Given the description of an element on the screen output the (x, y) to click on. 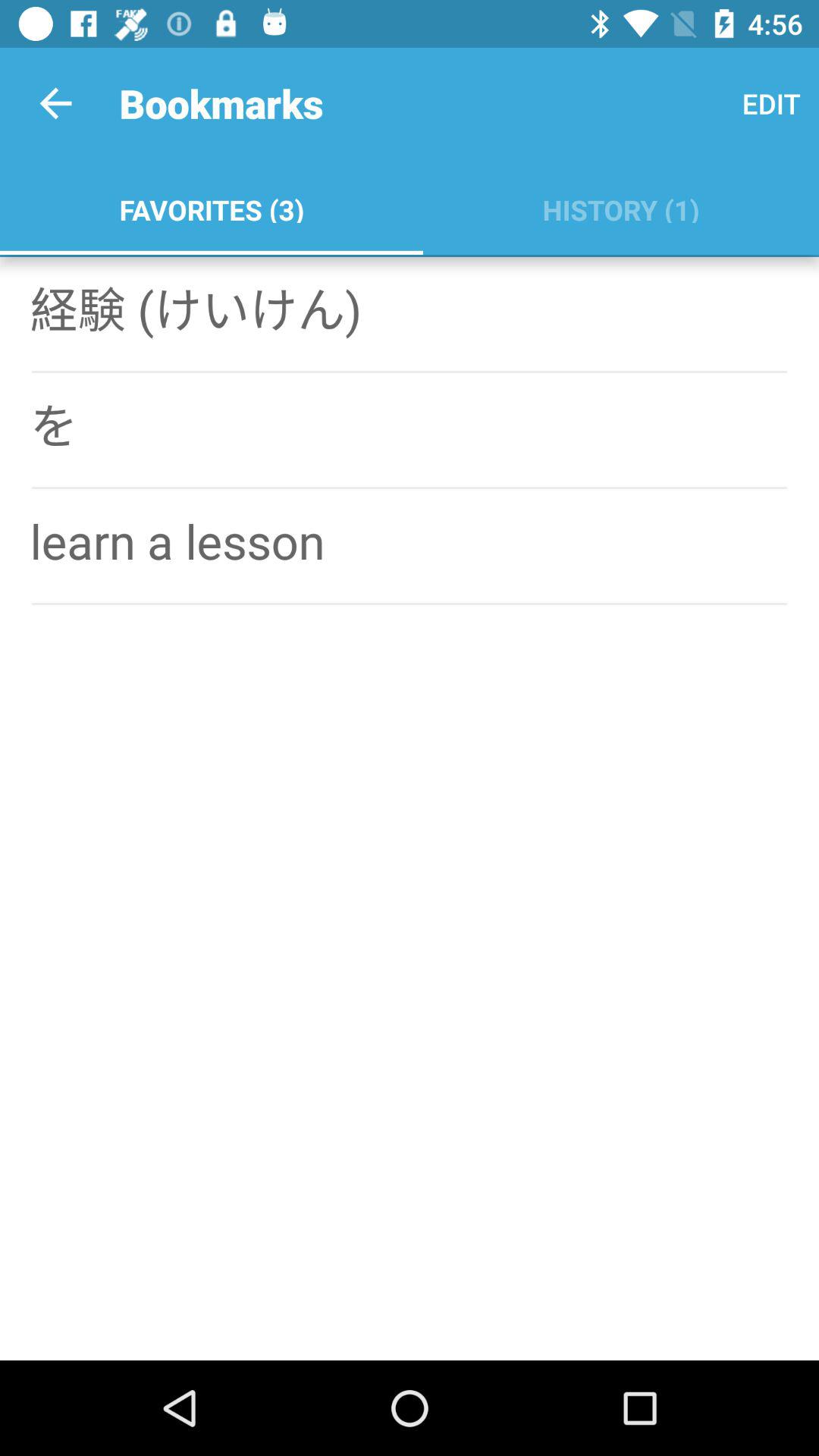
turn off the icon next to the history (1) (211, 206)
